Given the description of an element on the screen output the (x, y) to click on. 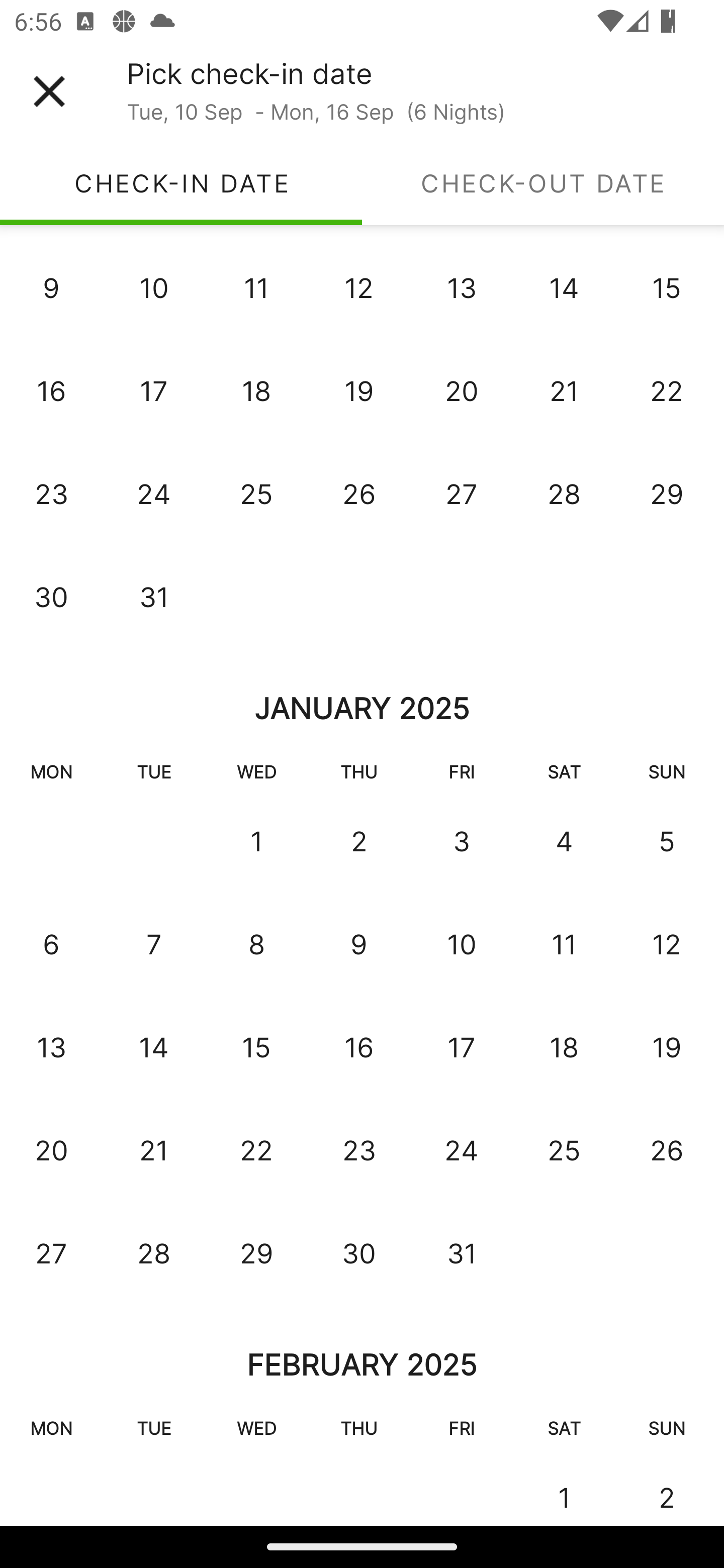
Check-out Date CHECK-OUT DATE (543, 183)
